Given the description of an element on the screen output the (x, y) to click on. 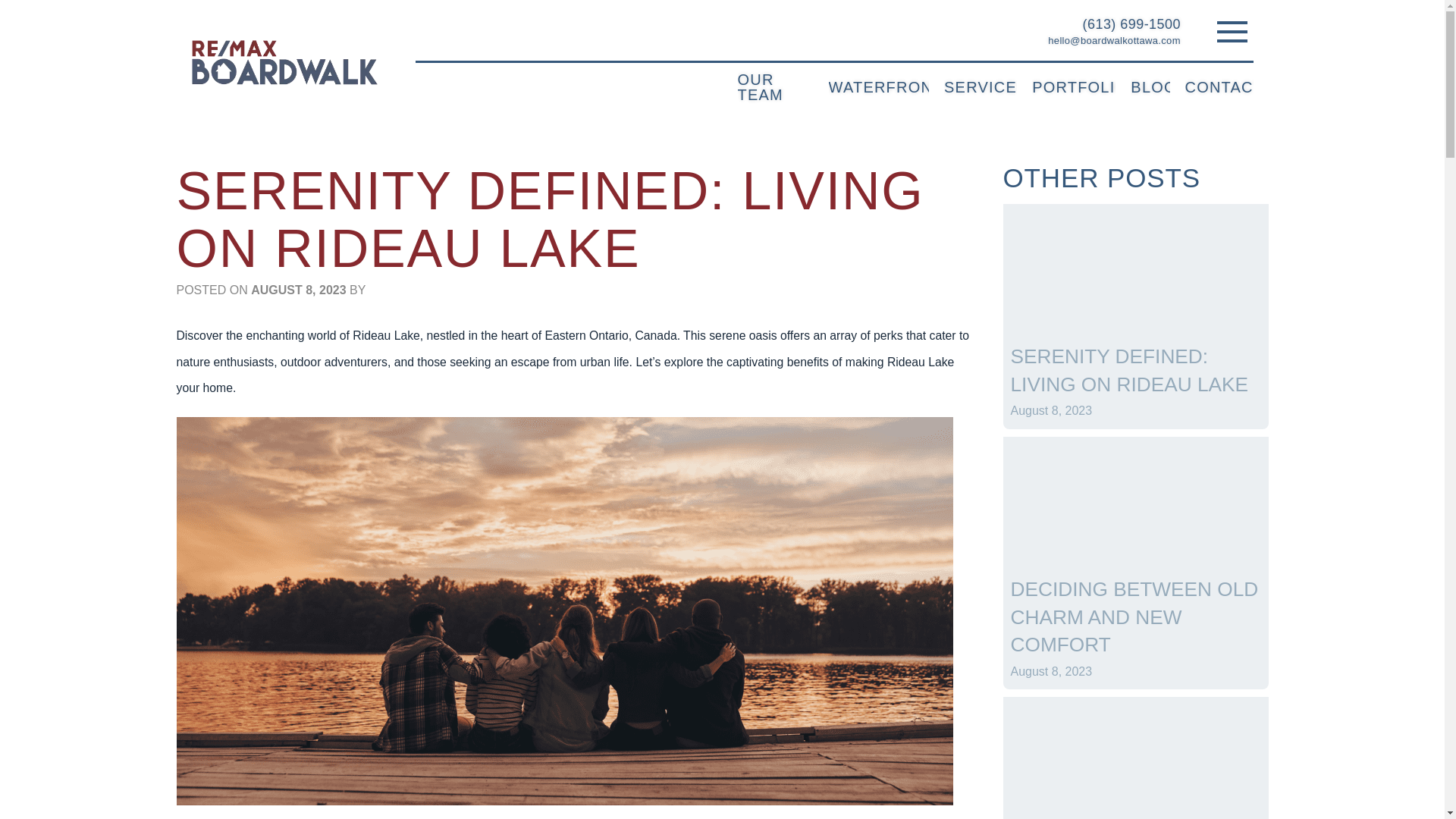
CONTACT (1219, 84)
BLOG (1150, 84)
PORTFOLIO (1073, 84)
WATERFRONT (879, 84)
SERVICES (979, 84)
OUR TEAM (774, 84)
